Given the description of an element on the screen output the (x, y) to click on. 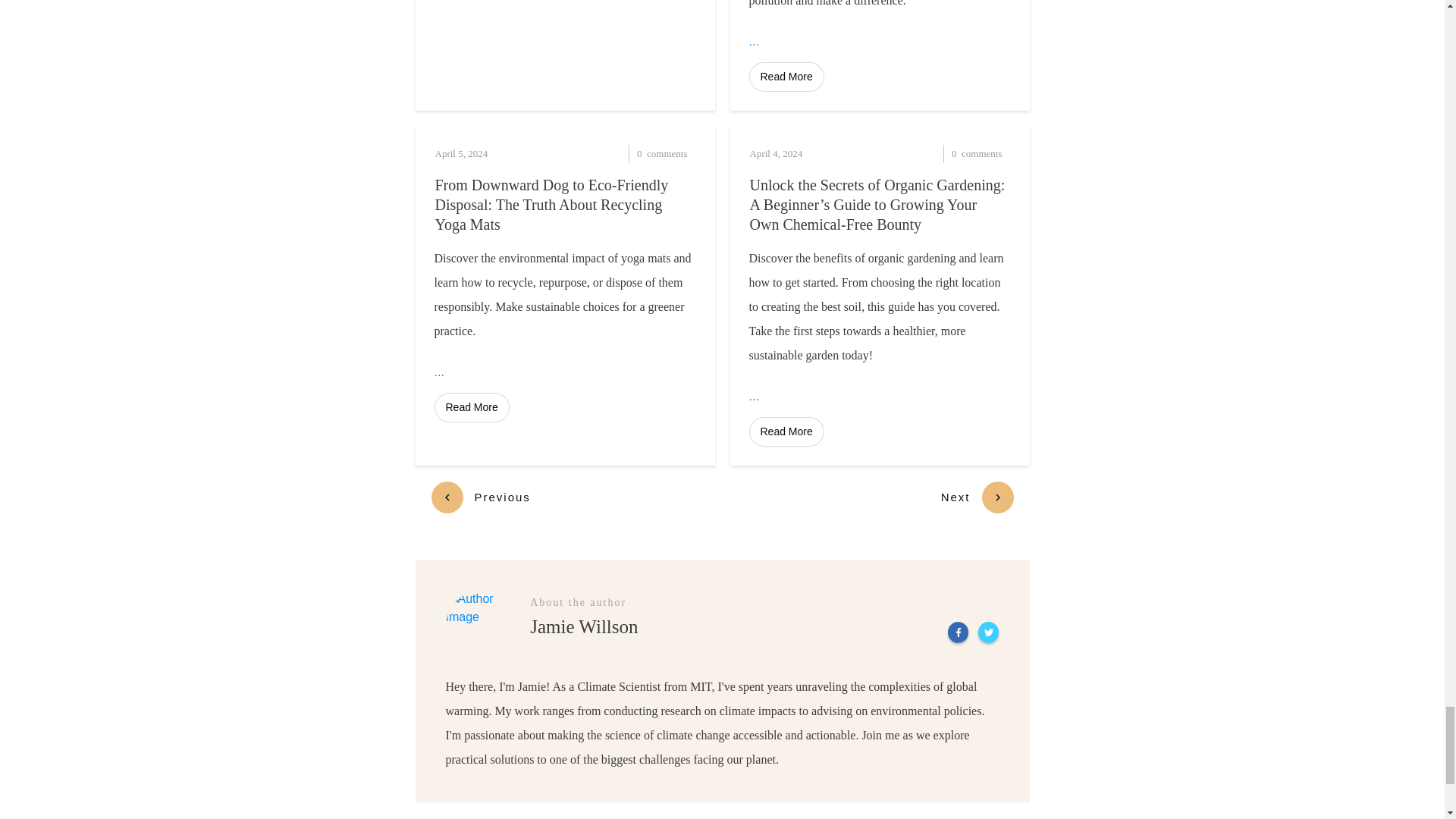
0  comments (947, 153)
Read More (786, 76)
0  comments (632, 153)
Read More (470, 407)
